Given the description of an element on the screen output the (x, y) to click on. 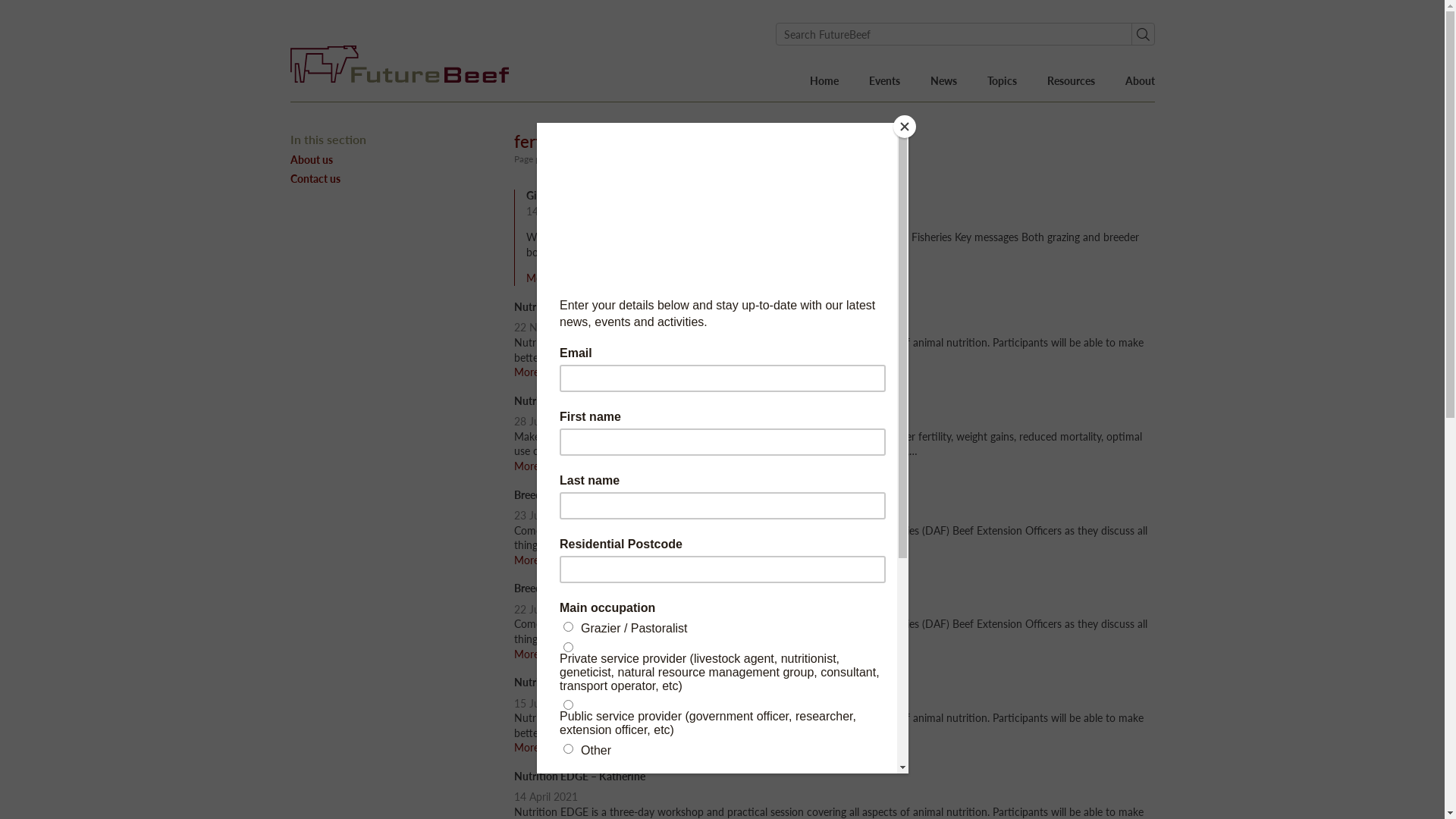
More Element type: text (532, 465)
?php _e('Search', 'sage'); ?> Element type: text (1142, 33)
About Element type: text (1139, 80)
More Element type: text (532, 371)
More Element type: text (532, 654)
News Element type: text (942, 80)
About us Element type: text (386, 159)
Contact us Element type: text (386, 178)
Resources Element type: text (1070, 80)
Topics Element type: text (1001, 80)
More Element type: text (544, 277)
More Element type: text (532, 559)
Events Element type: text (884, 80)
More Element type: text (532, 747)
Home Element type: text (823, 80)
Giving fertility a boost Element type: text (577, 194)
